Given the description of an element on the screen output the (x, y) to click on. 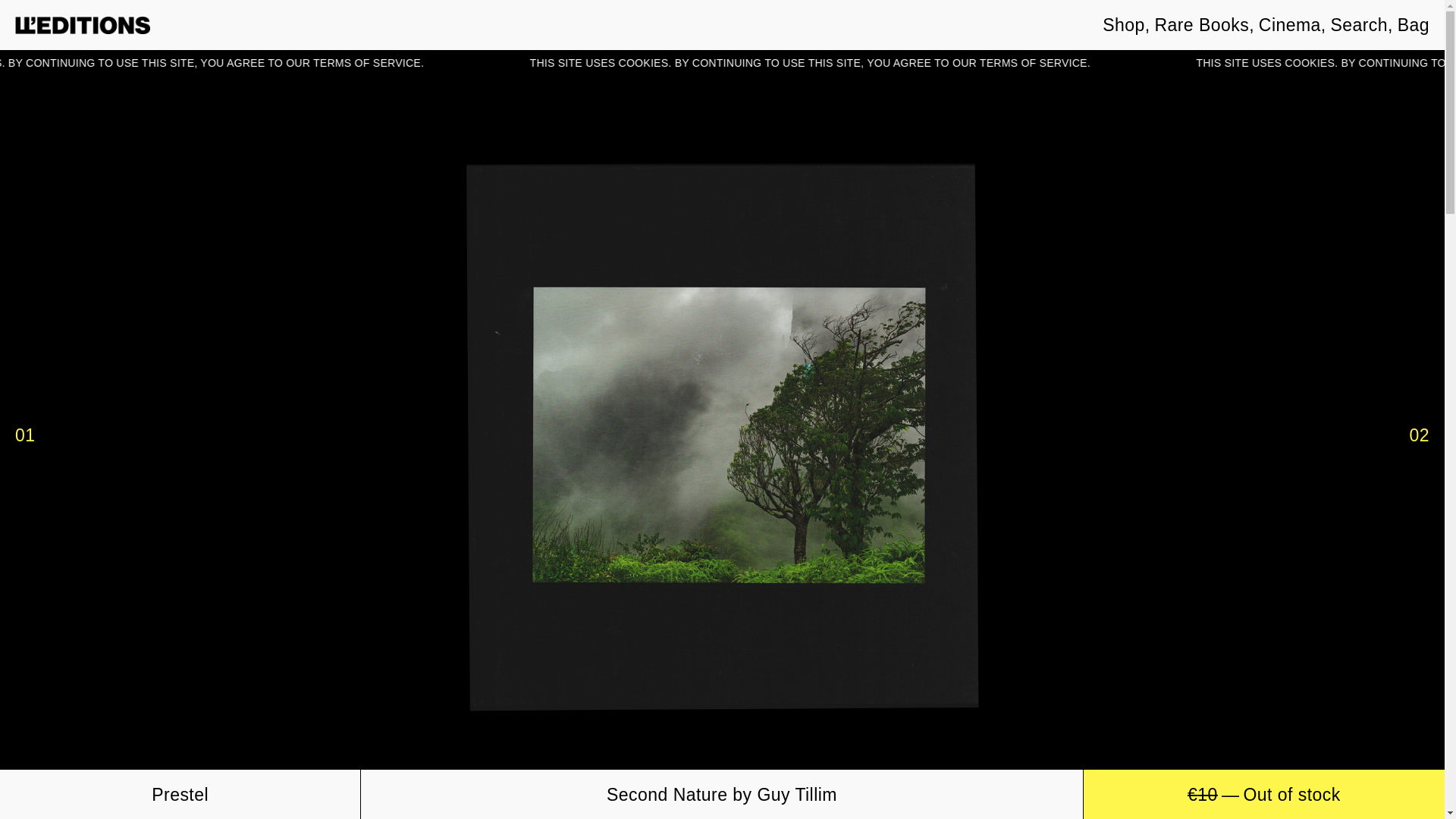
Rare Books (1201, 25)
Bag (1413, 25)
Cinema (1289, 25)
TERMS OF SERVICE (1170, 62)
TERMS OF SERVICE (505, 62)
Shop (1123, 25)
